Given the description of an element on the screen output the (x, y) to click on. 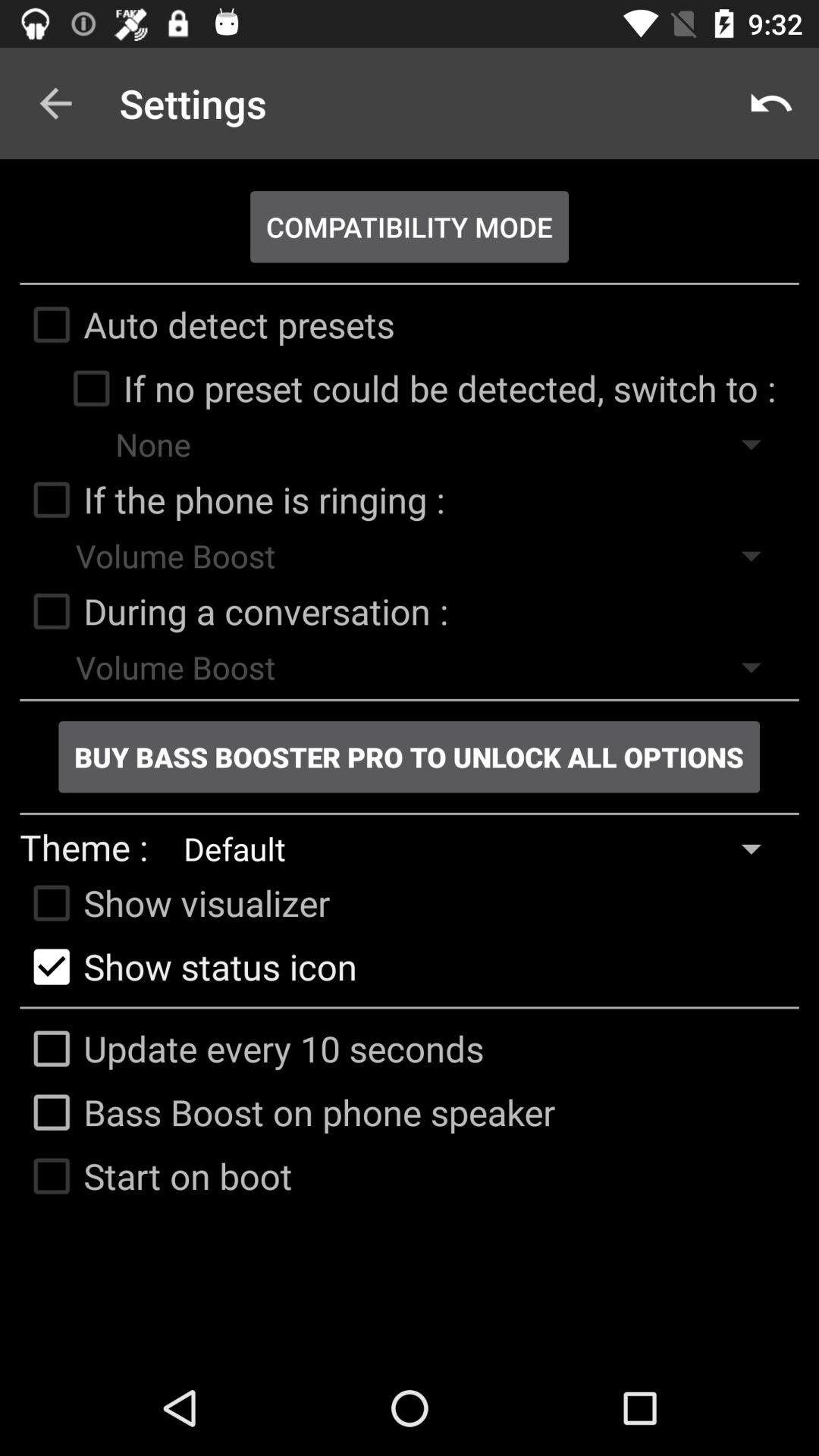
tap item next to settings icon (55, 103)
